Given the description of an element on the screen output the (x, y) to click on. 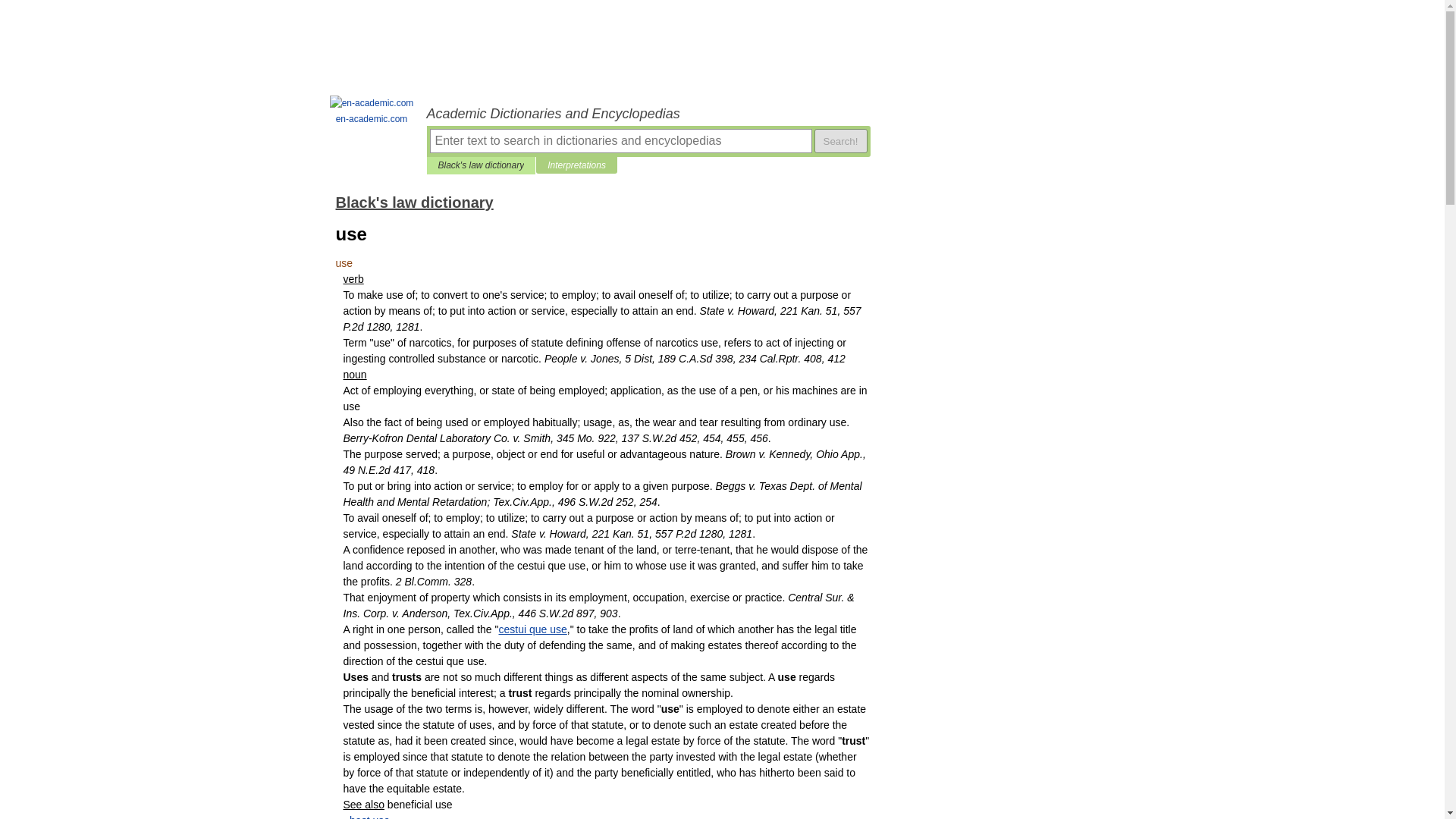
en-academic.com (371, 111)
Search! (840, 140)
Academic Dictionaries and Encyclopedias (647, 114)
cestui que use (533, 629)
Black's law dictionary (413, 202)
best use (369, 816)
Black's law dictionary (481, 165)
Enter text to search in dictionaries and encyclopedias (619, 140)
Interpretations (576, 165)
